Given the description of an element on the screen output the (x, y) to click on. 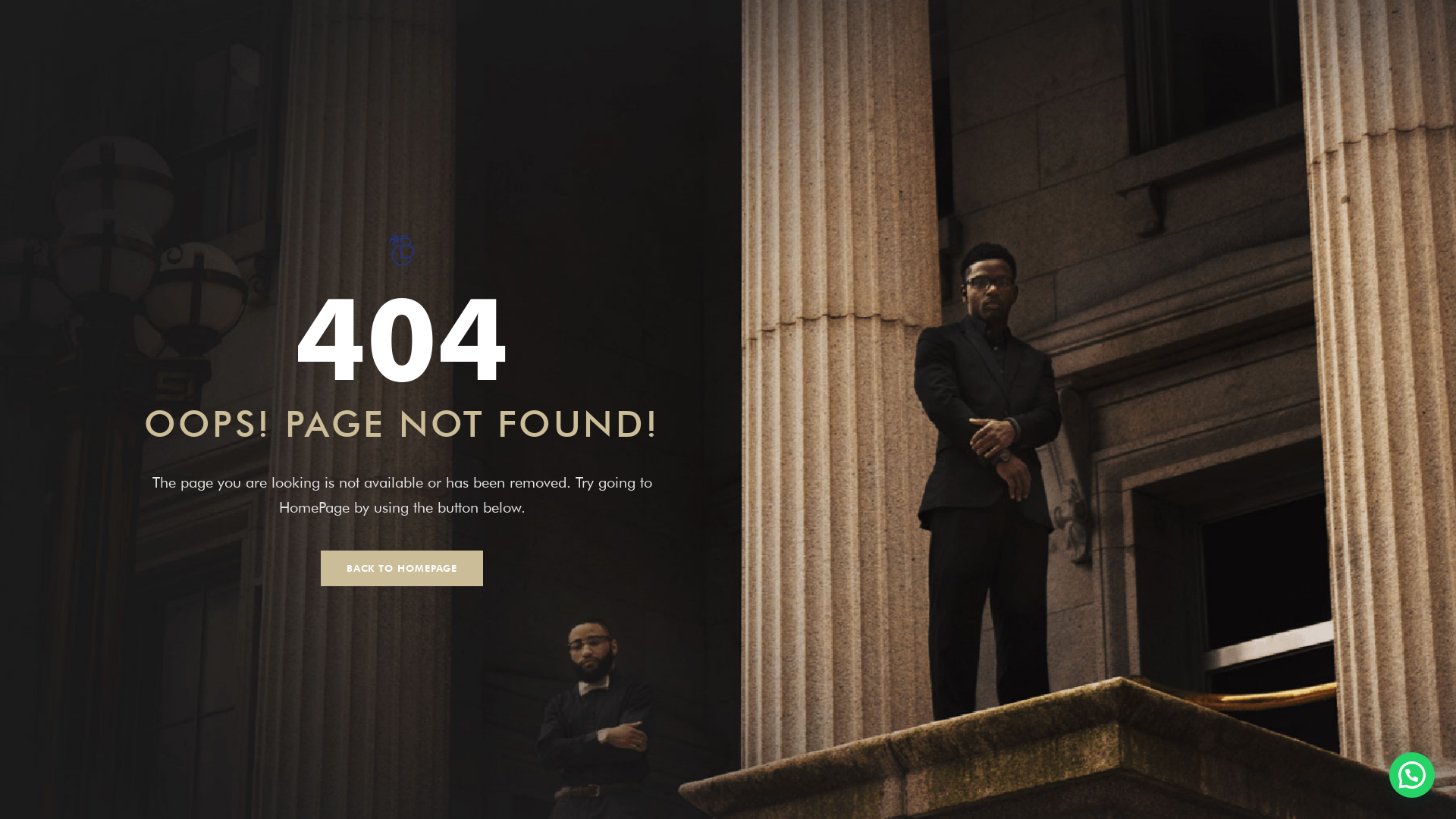
BACK TO HOMEPAGE Element type: text (401, 568)
